Given the description of an element on the screen output the (x, y) to click on. 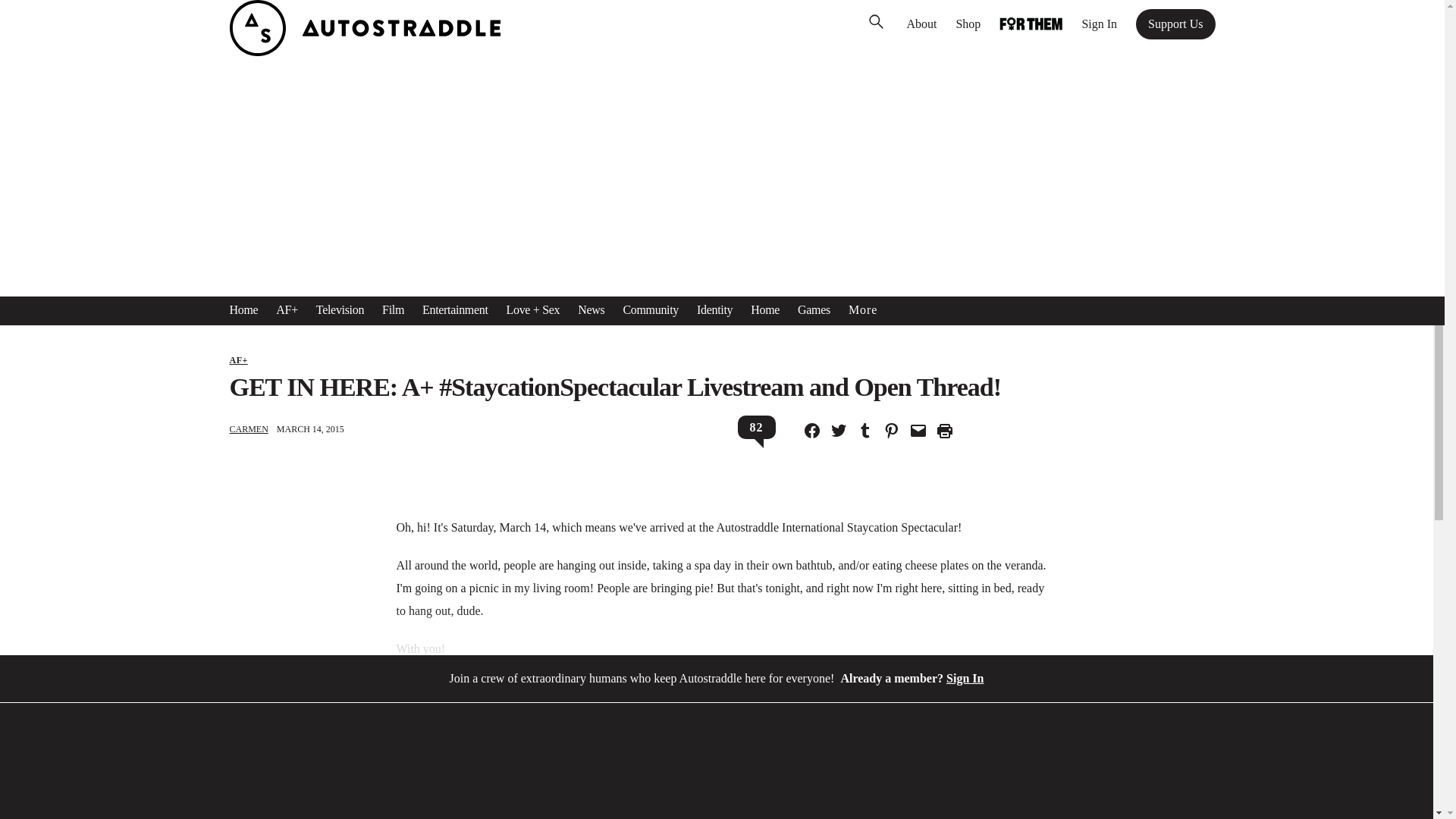
Home (242, 310)
Shop (967, 24)
Sign In (1098, 24)
Posts by Carmen (247, 429)
Television (339, 310)
Search (34, 15)
Autostraddle (363, 51)
